Given the description of an element on the screen output the (x, y) to click on. 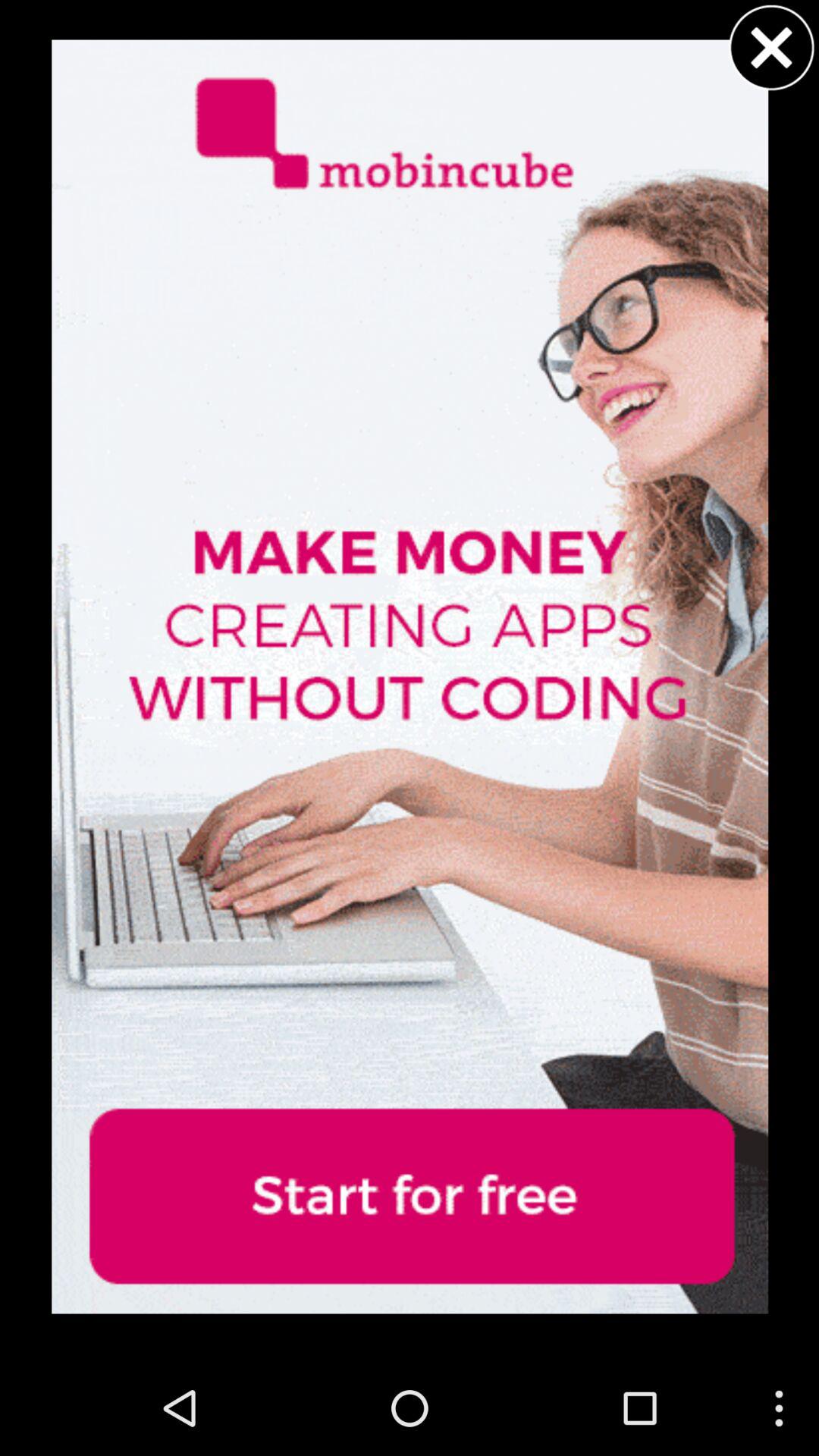
exit advertisement (771, 47)
